Given the description of an element on the screen output the (x, y) to click on. 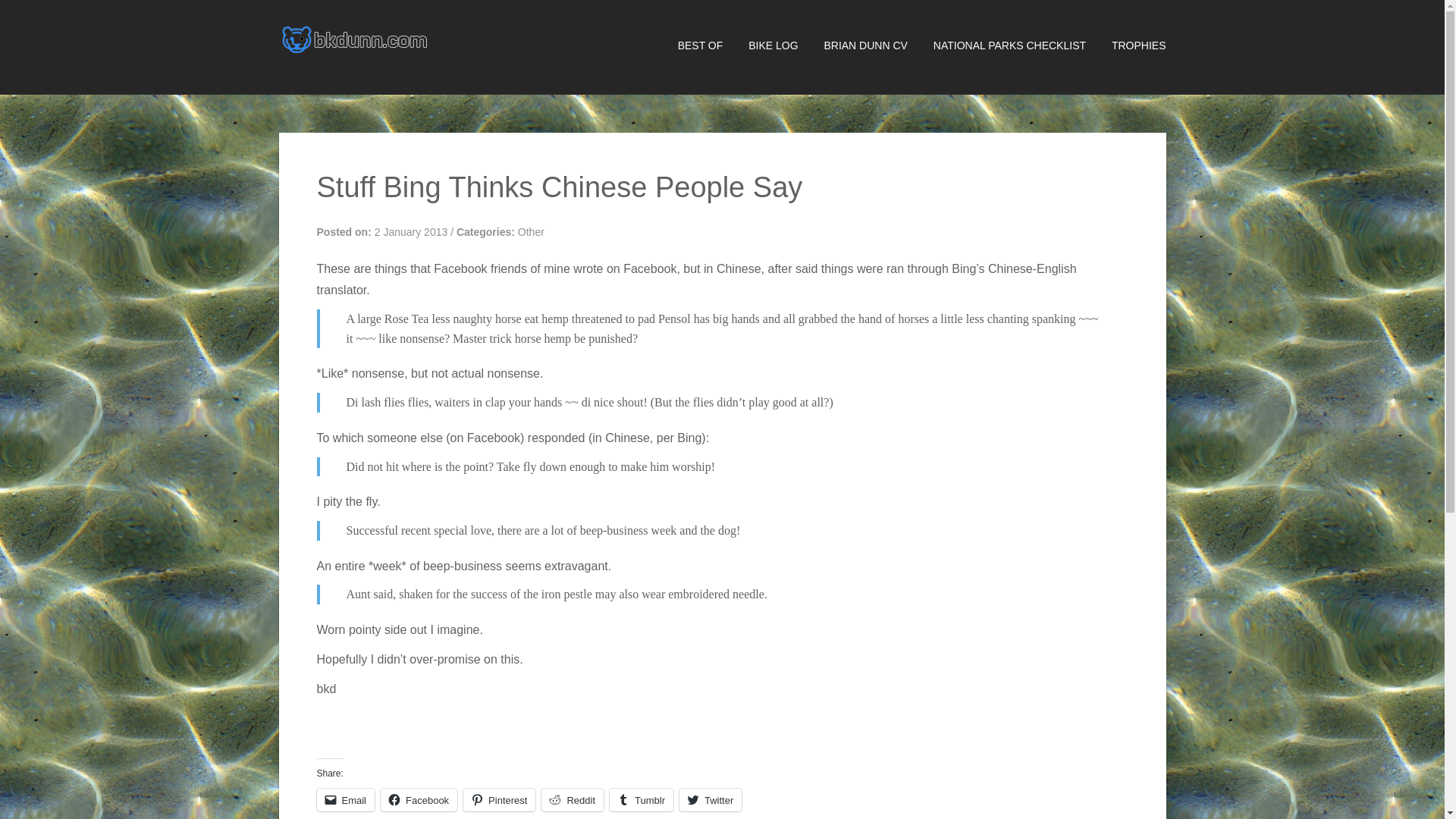
NATIONAL PARKS CHECKLIST (998, 45)
Reddit (572, 799)
Pinterest (499, 799)
Other (531, 232)
Click to share on Reddit (572, 799)
Click to share on Facebook (418, 799)
Click to email a link to a friend (346, 799)
Email (346, 799)
Click to share on Tumblr (641, 799)
BRIAN DUNN CV (853, 45)
